Given the description of an element on the screen output the (x, y) to click on. 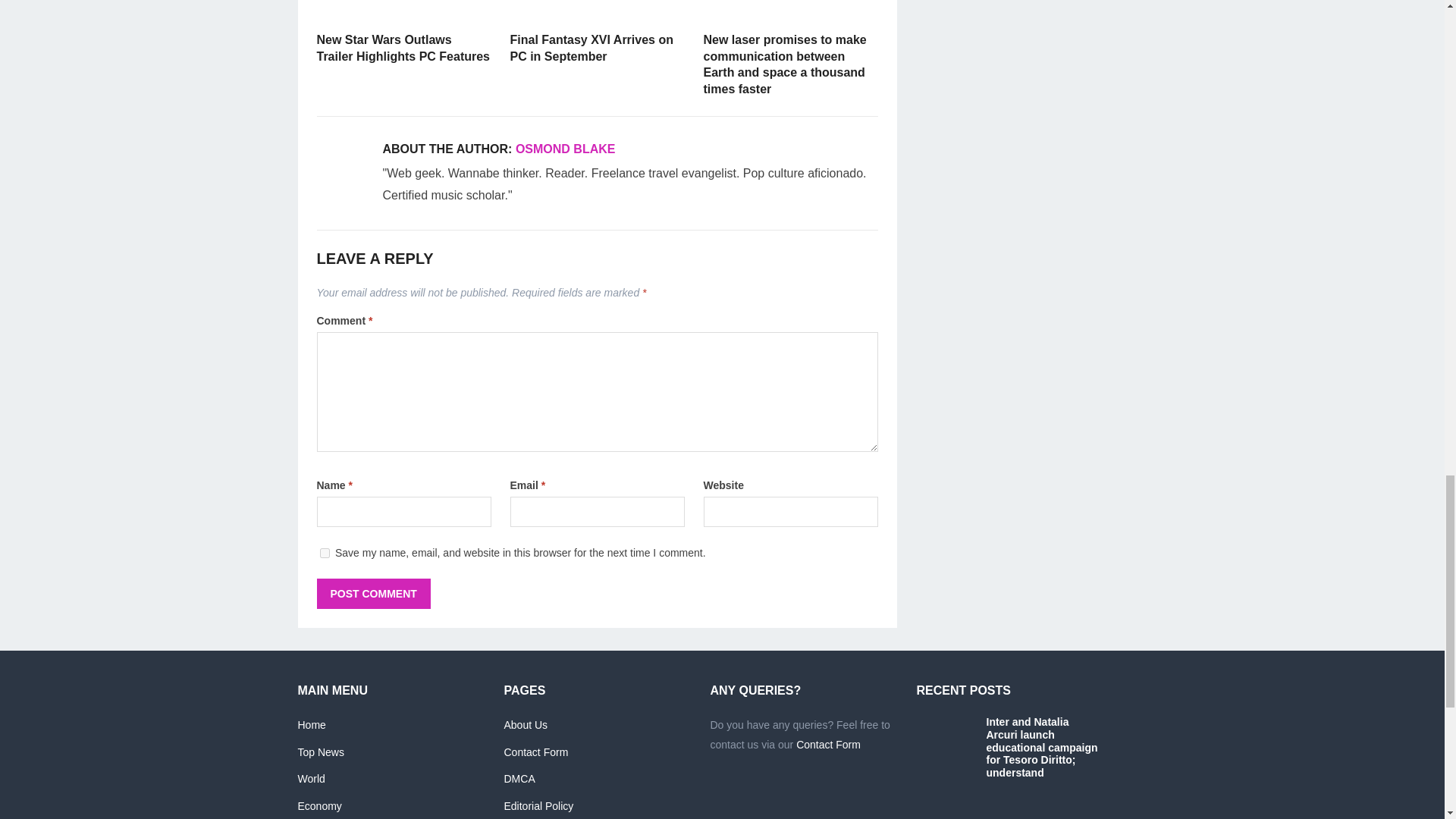
New Star Wars Outlaws Trailer Highlights PC Features (404, 11)
New Star Wars Outlaws Trailer Highlights PC Features (403, 48)
OSMOND BLAKE (565, 148)
Post Comment (373, 593)
Final Fantasy XVI Arrives on PC in September (596, 11)
yes (325, 552)
Final Fantasy XVI Arrives on PC in September (590, 48)
